Given the description of an element on the screen output the (x, y) to click on. 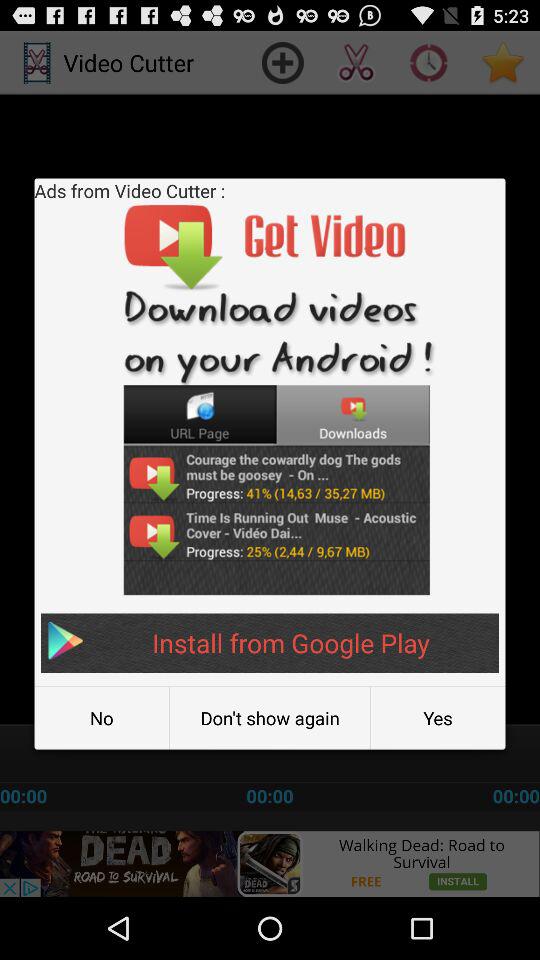
choose button below install from google button (101, 717)
